Given the description of an element on the screen output the (x, y) to click on. 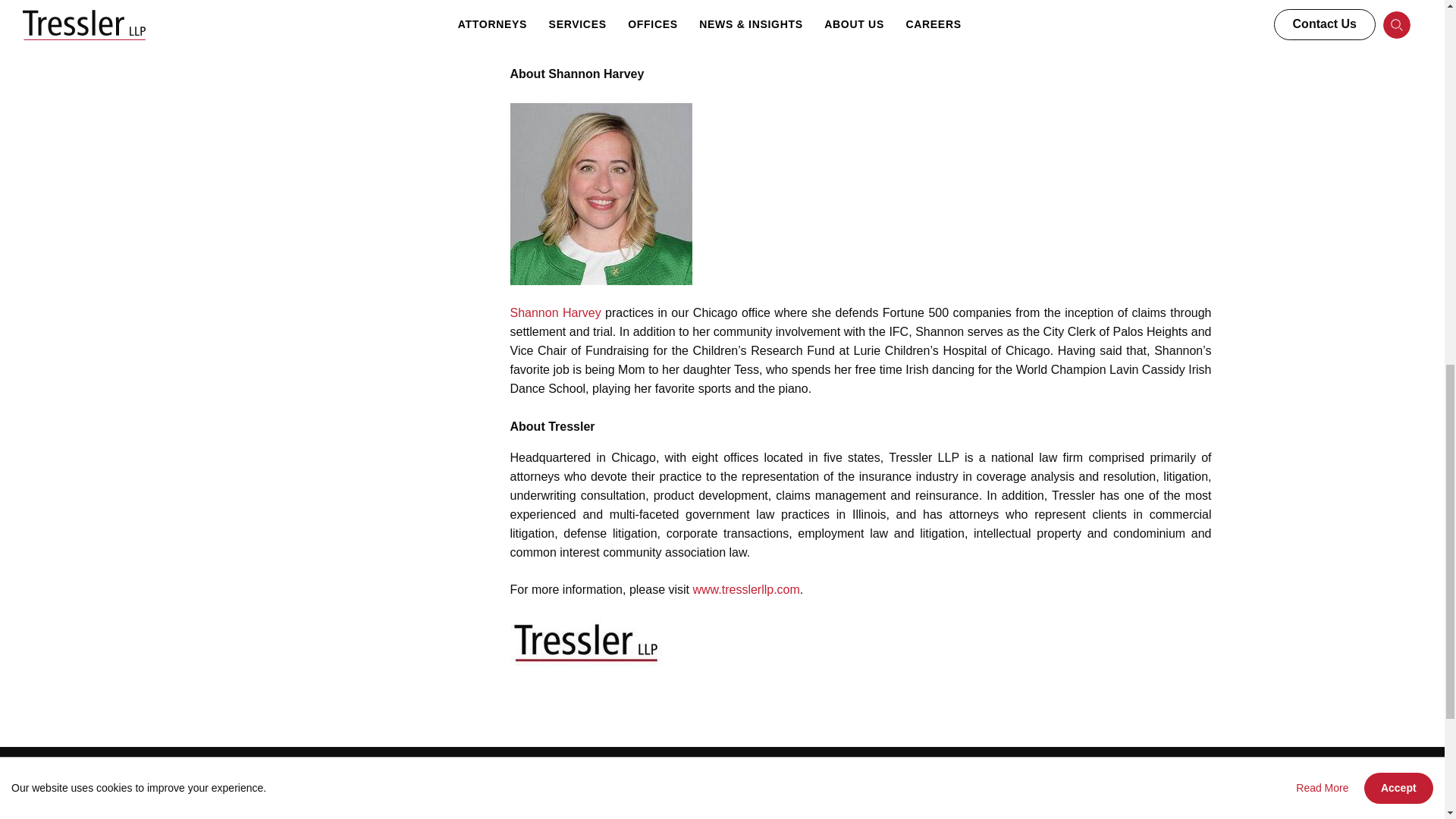
Irish Fellowship Club of Chicago Logo (622, 26)
Shannon Harvey (554, 312)
Shannon Harvey Tressler LLP (600, 194)
www.tresslerllp.com (746, 589)
